Given the description of an element on the screen output the (x, y) to click on. 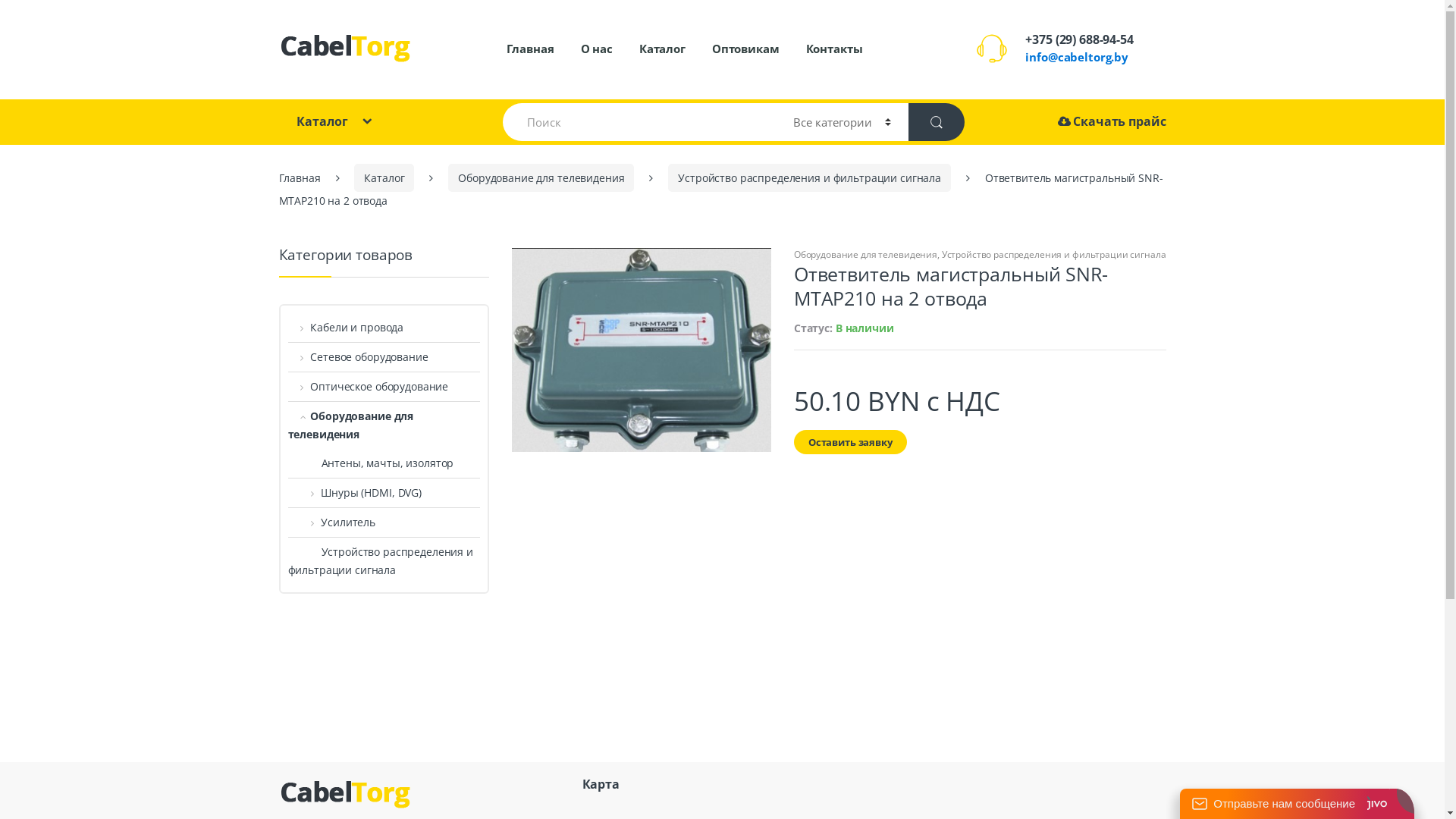
Skip to content Element type: text (37, 9)
+375 (29) 688-94-54 Element type: text (1078, 38)
Skip to navigation Element type: text (43, 9)
210 Element type: hover (641, 349)
info@cabeltorg.by Element type: text (1076, 56)
